Given the description of an element on the screen output the (x, y) to click on. 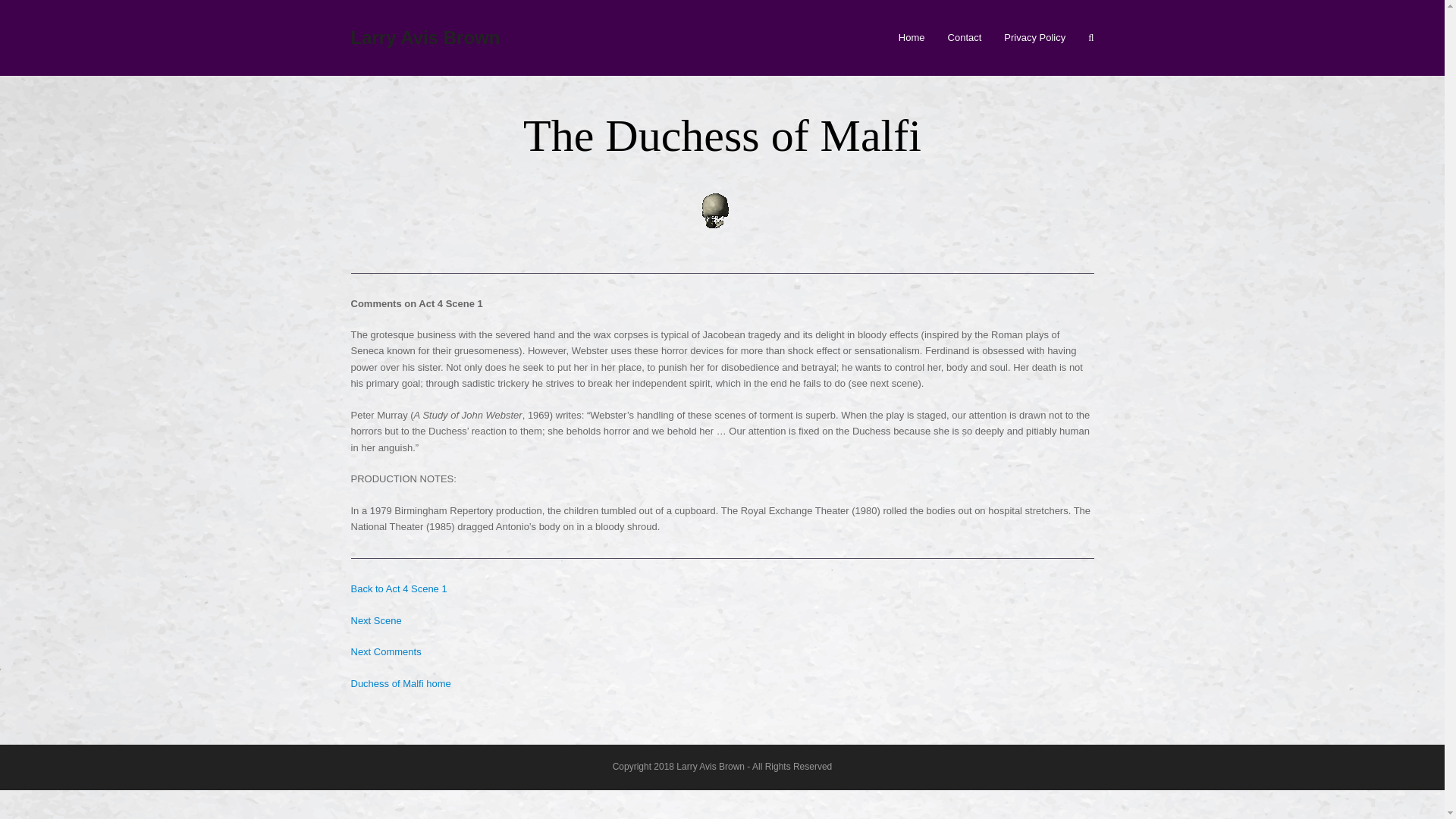
Home (911, 37)
Privacy Policy (1034, 37)
Next Comments (385, 651)
Larry Avis Brown (424, 37)
Contact (964, 37)
Back to Act 4 Scene 1 (398, 588)
Next Scene (375, 620)
Duchess of Malfi home (399, 683)
